Given the description of an element on the screen output the (x, y) to click on. 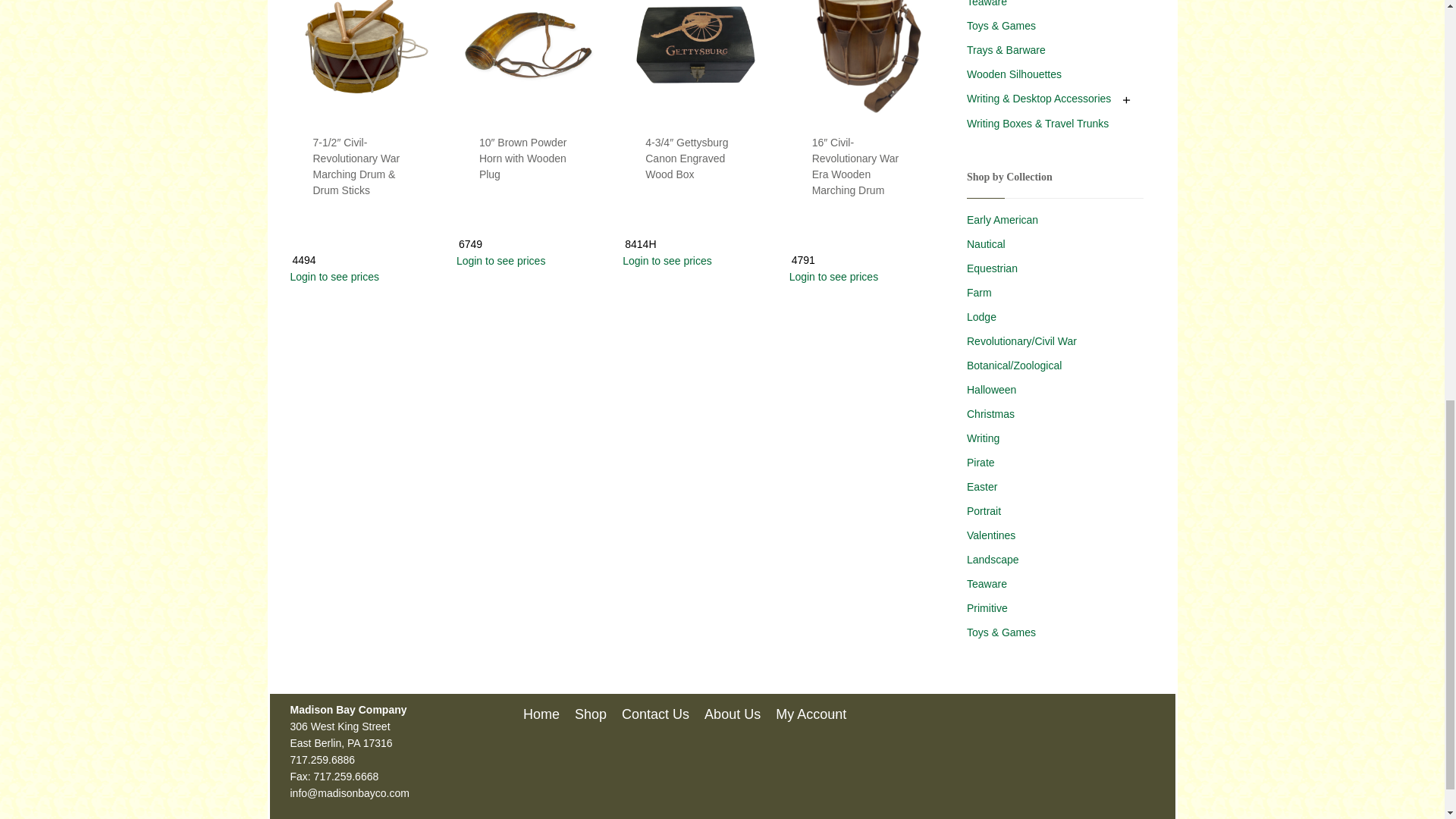
Login to see prices (694, 260)
Login to see prices (360, 276)
Login to see prices (528, 260)
